Given the description of an element on the screen output the (x, y) to click on. 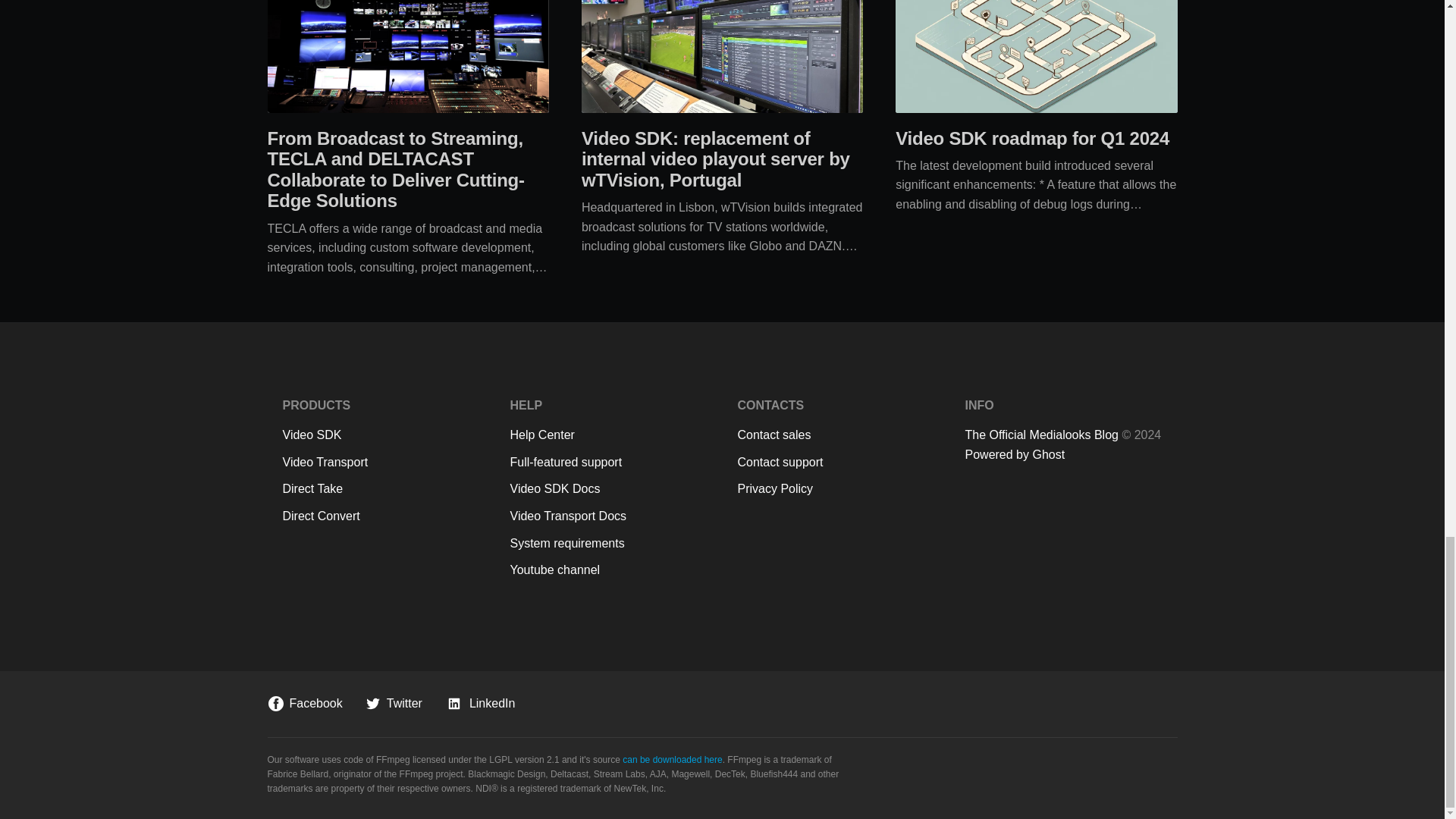
Twitter (394, 703)
Facebook (304, 703)
Direct Convert (380, 516)
LinkedIn (480, 703)
Video Transport (380, 462)
Video SDK (380, 435)
Direct Take (380, 488)
